Given the description of an element on the screen output the (x, y) to click on. 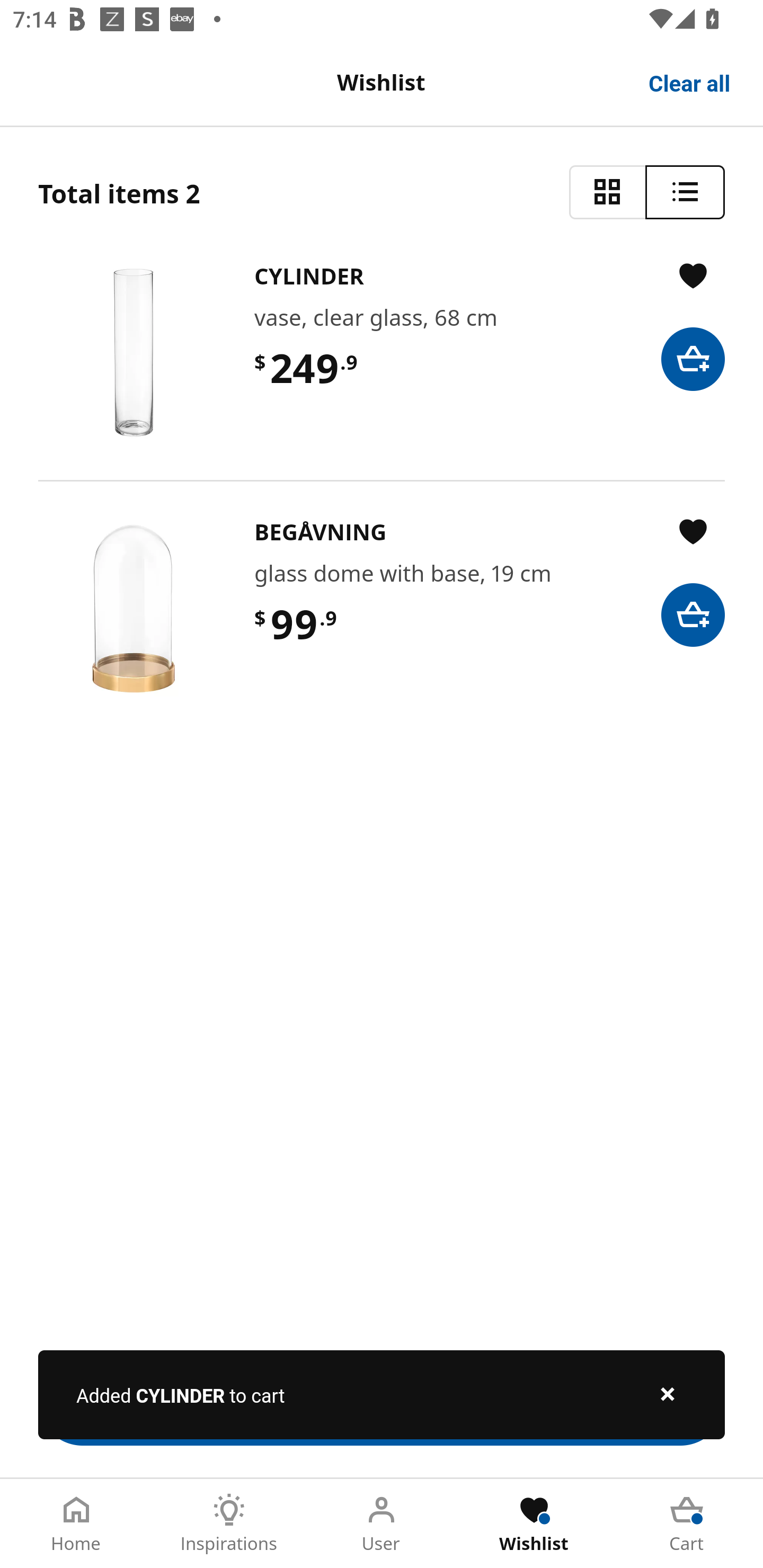
Clear all (689, 81)
Added CYLINDER to cart (381, 1394)
Home
Tab 1 of 5 (76, 1522)
Inspirations
Tab 2 of 5 (228, 1522)
User
Tab 3 of 5 (381, 1522)
Wishlist
Tab 4 of 5 (533, 1522)
Cart
Tab 5 of 5 (686, 1522)
